Given the description of an element on the screen output the (x, y) to click on. 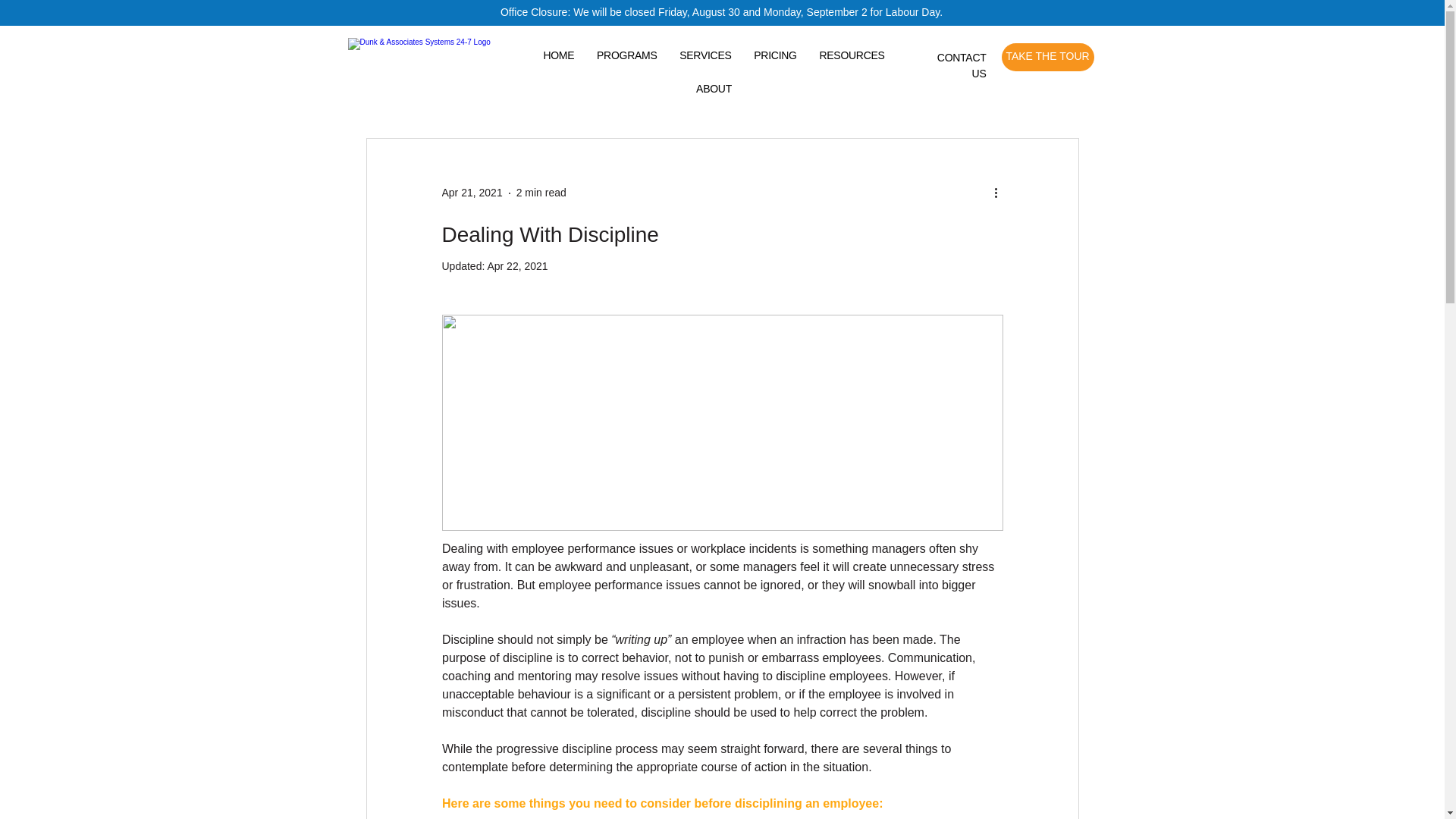
2 min read (541, 192)
Apr 21, 2021 (471, 192)
HOME (559, 54)
Apr 22, 2021 (516, 265)
